Given the description of an element on the screen output the (x, y) to click on. 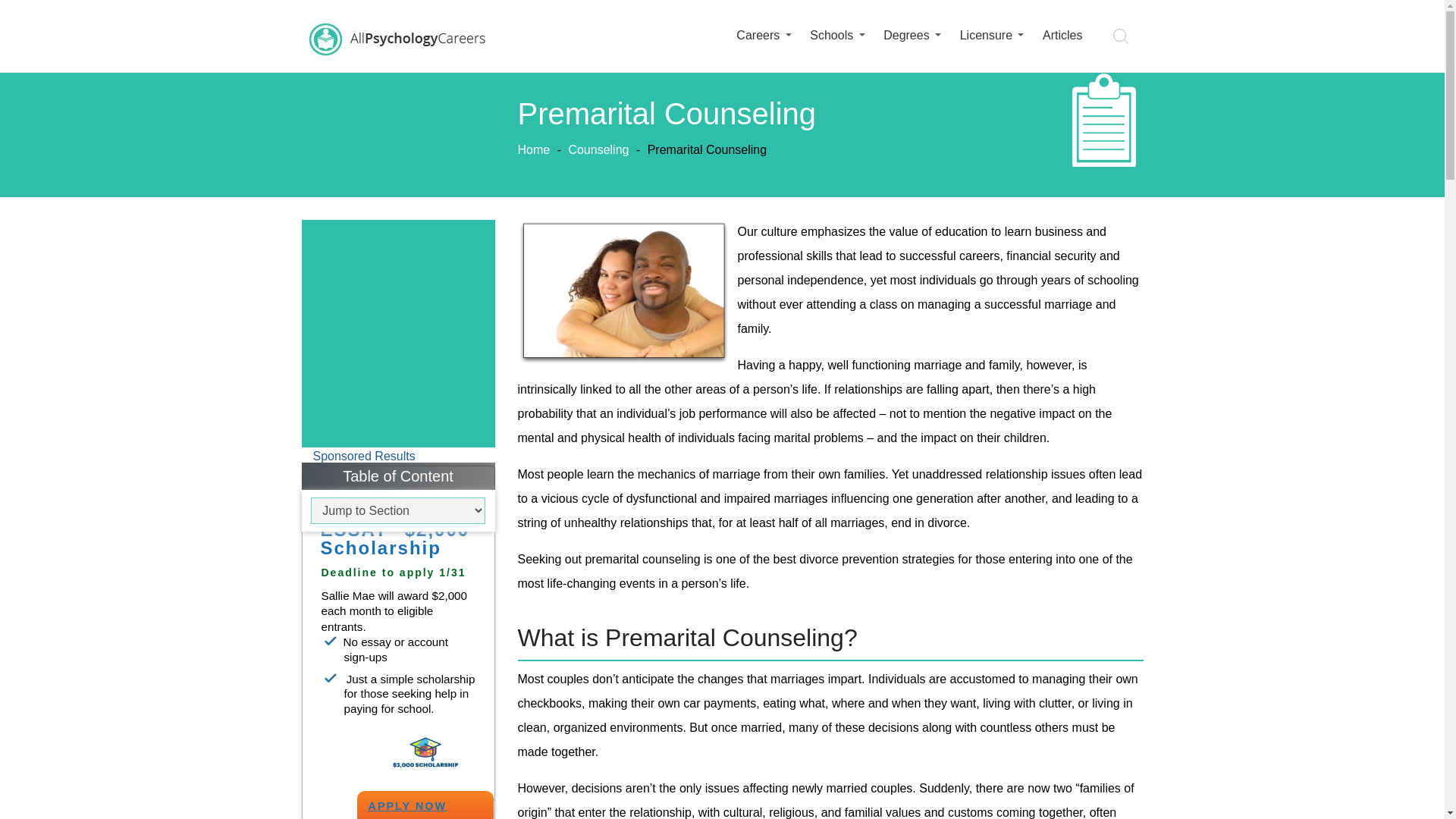
Degrees (905, 34)
Careers (757, 34)
Articles (1062, 34)
Counseling (597, 149)
Licensure (985, 34)
Sponsored Results (363, 456)
Schools (830, 34)
Home (533, 149)
